Given the description of an element on the screen output the (x, y) to click on. 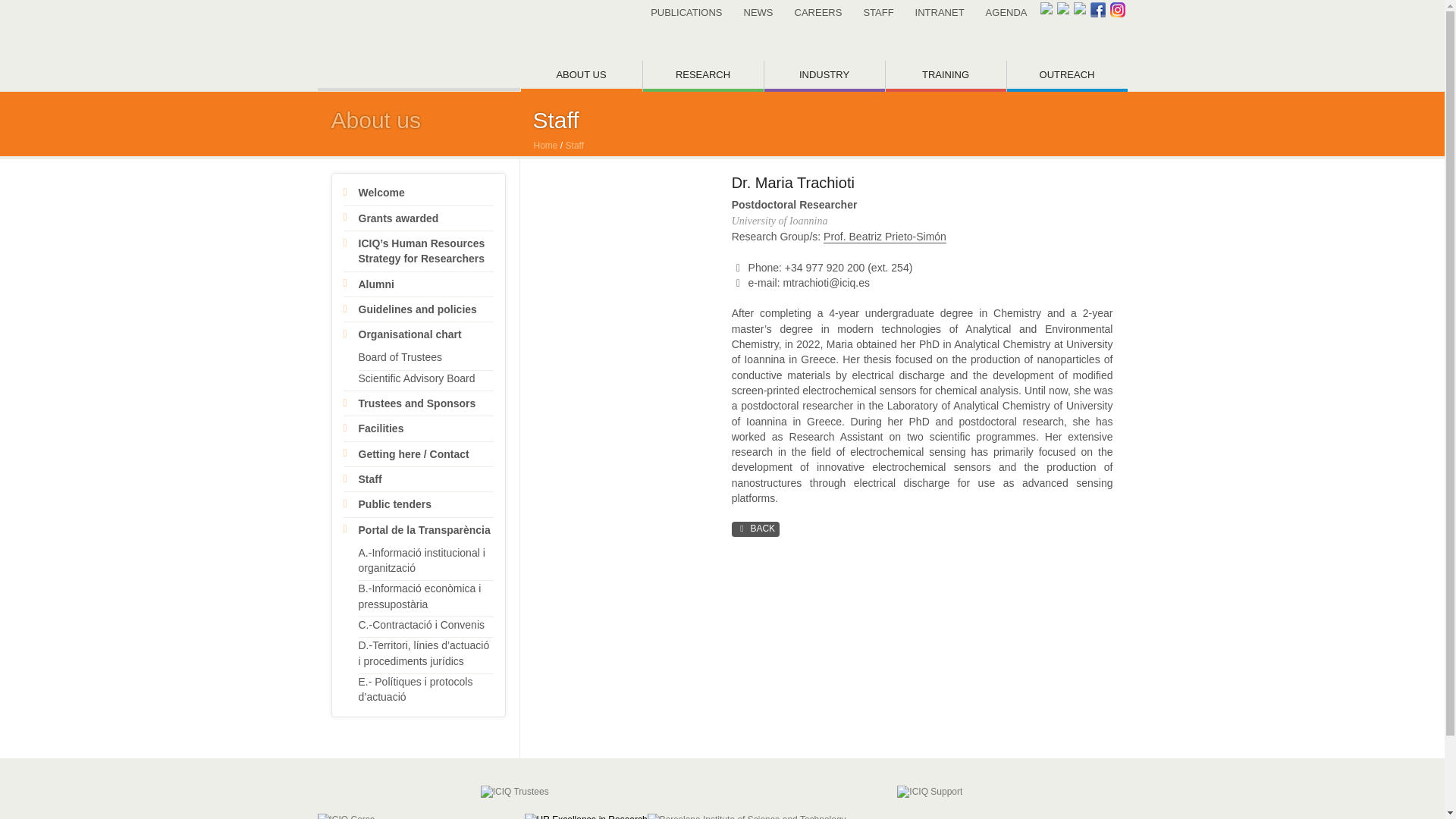
Welcome (381, 192)
Staff (574, 145)
Board of Trustees (400, 357)
Organisational chart (409, 334)
TRAINING (945, 75)
OUTREACH (1066, 75)
Facilities (380, 428)
INDUSTRY (824, 75)
CAREERS (818, 12)
RESEARCH (702, 75)
ICIQ (418, 45)
Guidelines and policies (417, 309)
Public tenders (394, 503)
Staff (369, 479)
Alumni (375, 284)
